Given the description of an element on the screen output the (x, y) to click on. 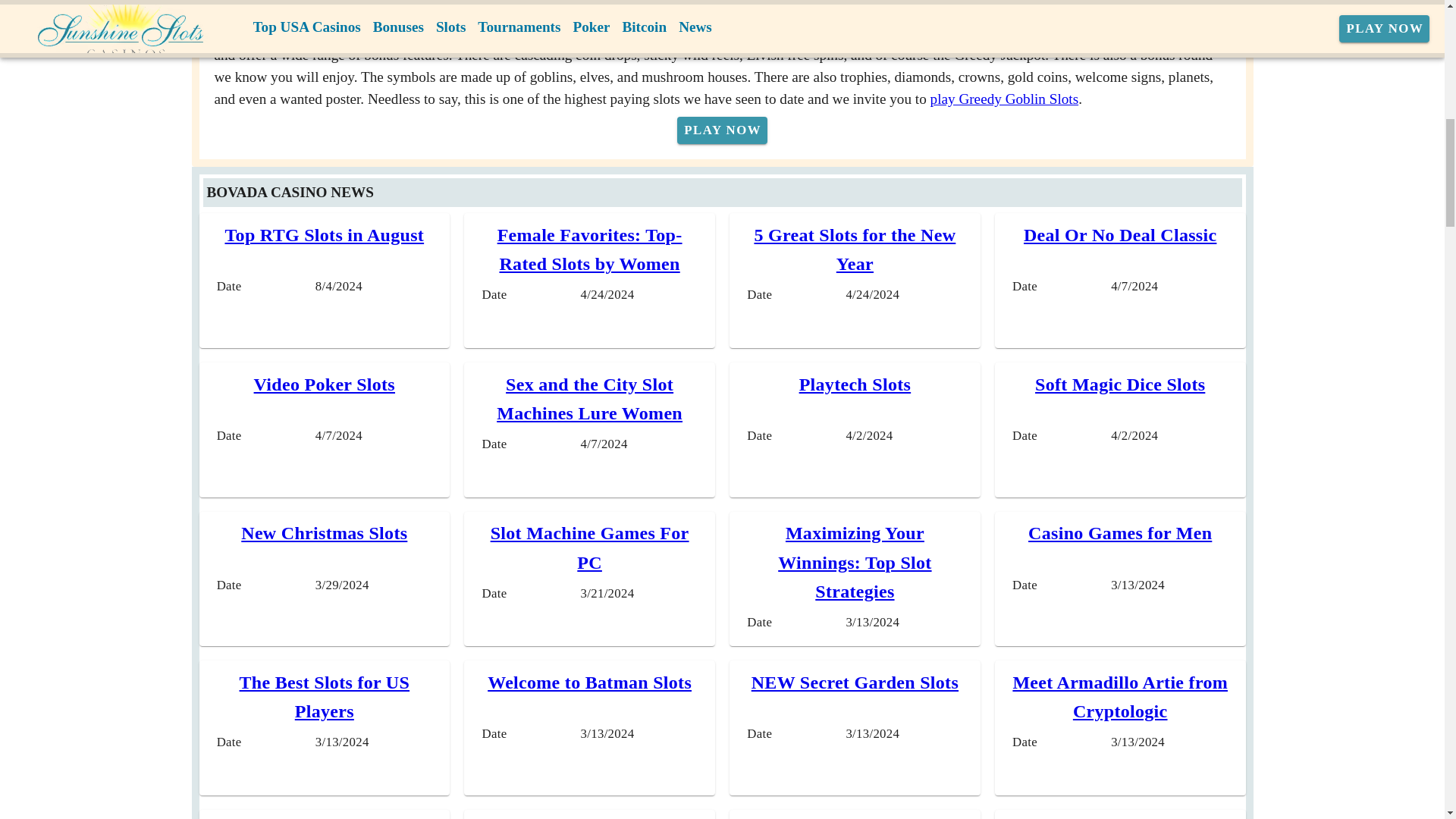
Slot Machine Games For PC (589, 547)
New Christmas Slots (324, 532)
5 Great Slots for the New Year (854, 249)
Video Poker Slots (323, 383)
play Greedy Goblin Slots (1004, 98)
PLAY NOW (722, 130)
Soft Magic Dice Slots (1120, 383)
Casino Games for Men (1119, 532)
Meet Armadillo Artie from Cryptologic (1119, 696)
Maximizing Your Winnings: Top Slot Strategies (854, 562)
